Given the description of an element on the screen output the (x, y) to click on. 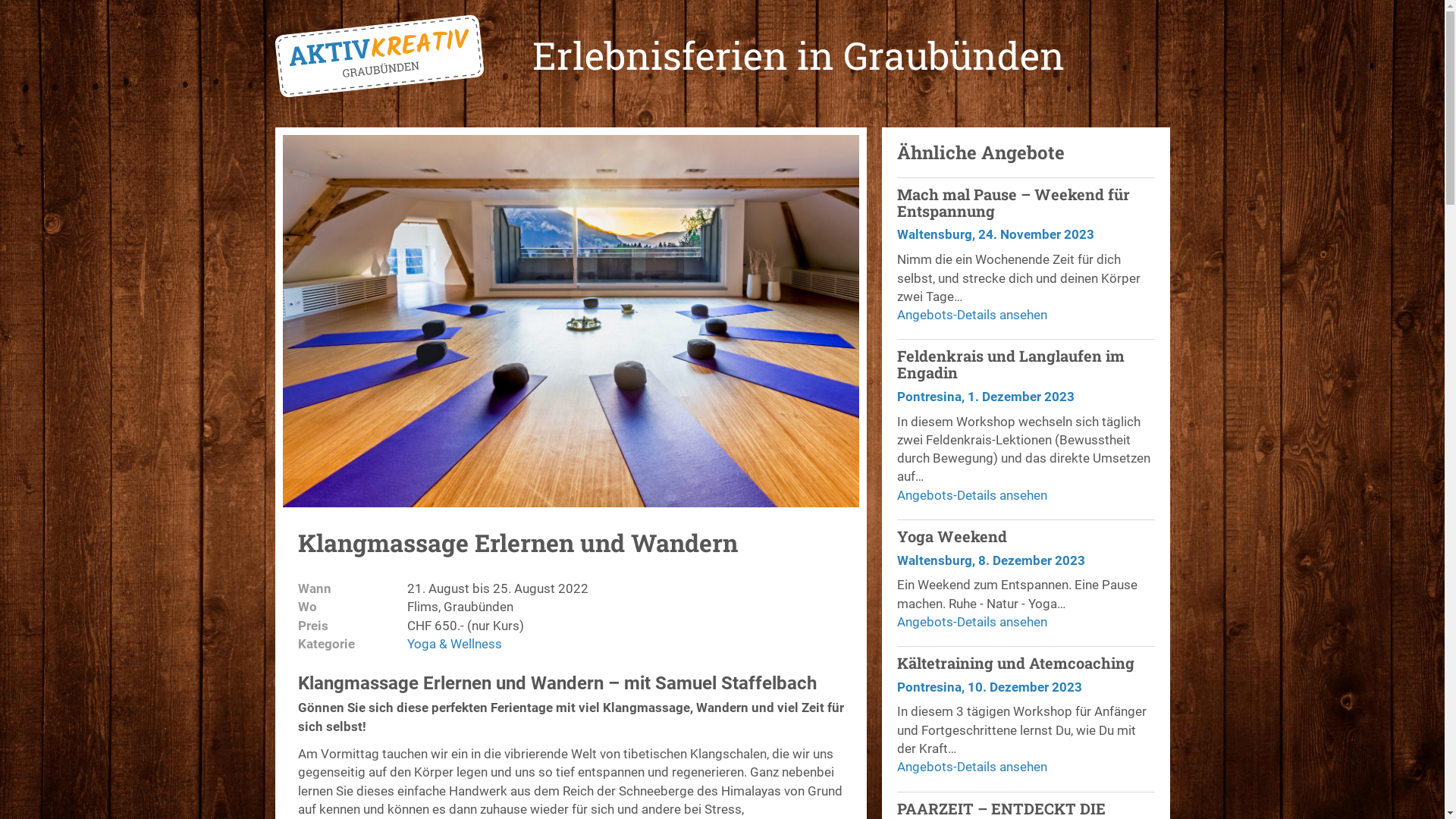
Yoga Weekend Element type: text (951, 536)
Pontresina, 1. Dezember 2023 Element type: text (984, 396)
Angebots-Details ansehen Element type: text (1025, 621)
Waltensburg, 24. November 2023 Element type: text (994, 233)
Pontresina, 10. Dezember 2023 Element type: text (988, 686)
Angebots-Details ansehen Element type: text (1025, 766)
Angebots-Details ansehen Element type: text (1025, 495)
Feldenkrais und Langlaufen im Engadin Element type: text (1009, 363)
Yoga & Wellness Element type: text (453, 643)
Waltensburg, 8. Dezember 2023 Element type: text (990, 559)
Angebots-Details ansehen Element type: text (1025, 314)
